Given the description of an element on the screen output the (x, y) to click on. 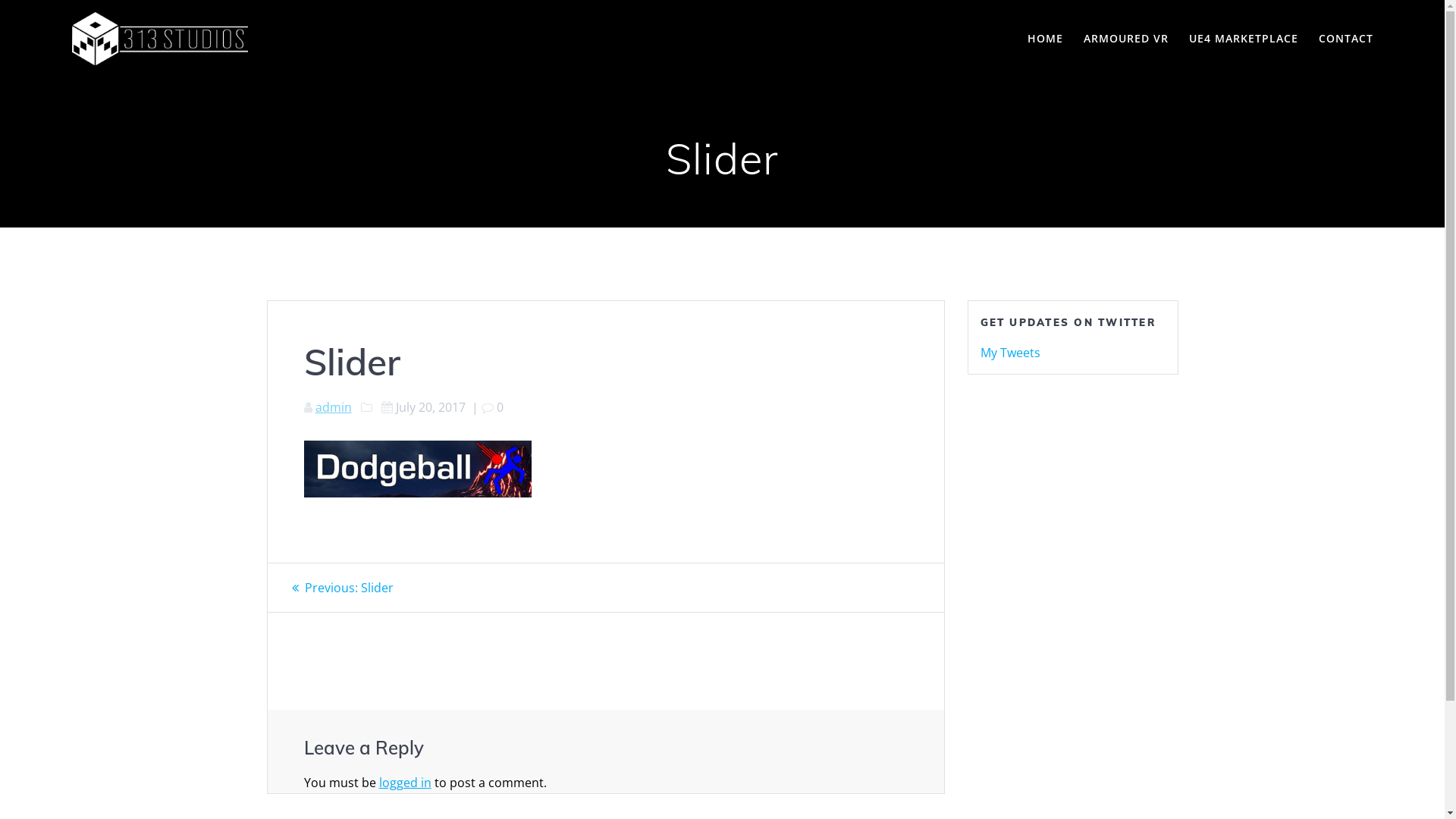
UE4 MARKETPLACE Element type: text (1243, 38)
admin Element type: text (333, 406)
My Tweets Element type: text (1009, 352)
HOME Element type: text (1045, 38)
logged in Element type: text (405, 782)
CONTACT Element type: text (1345, 38)
Previous:
Previous post:
Slider Element type: text (341, 587)
ARMOURED VR Element type: text (1125, 38)
